Given the description of an element on the screen output the (x, y) to click on. 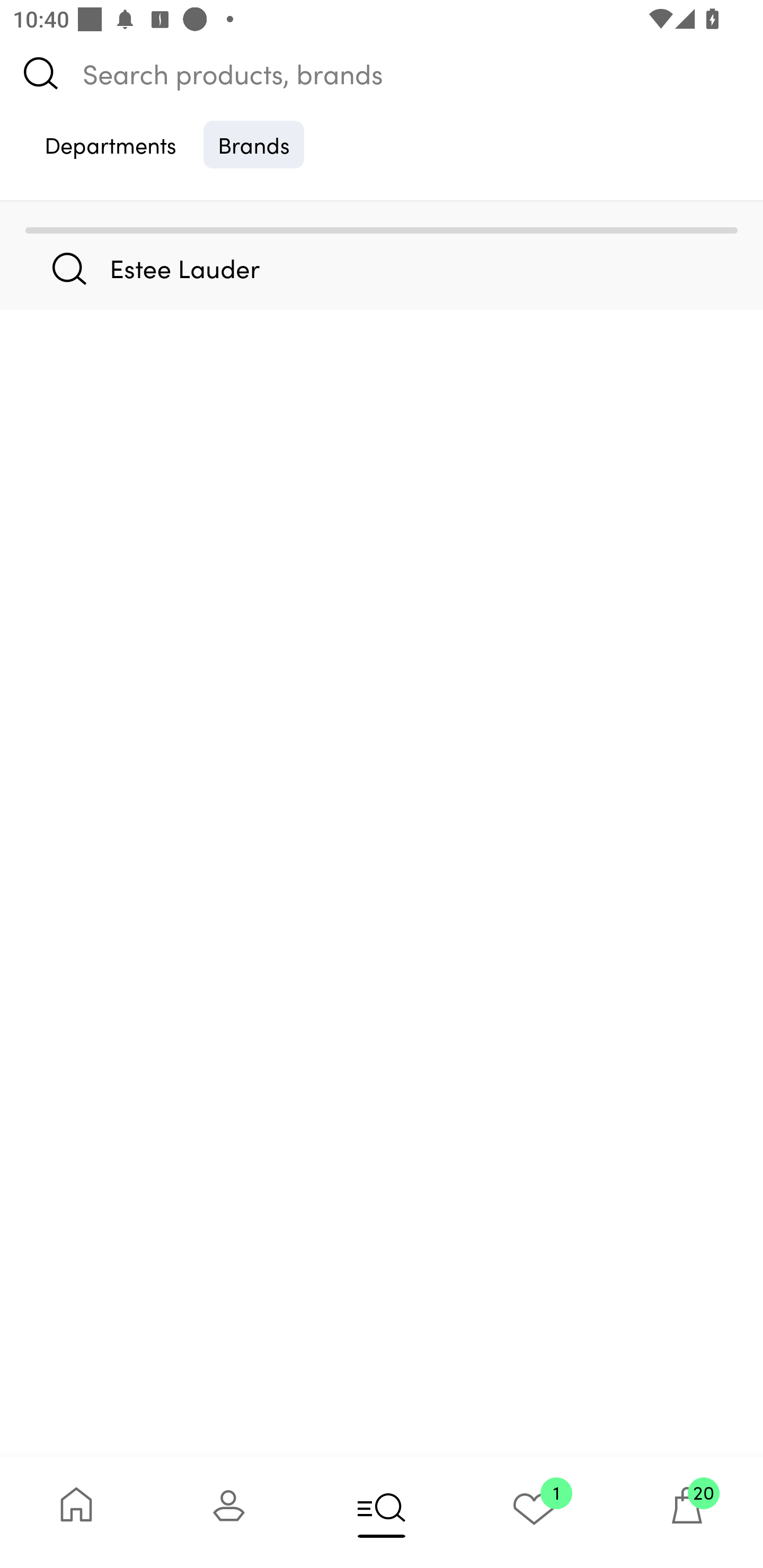
Search products, brands (381, 72)
Departments (110, 143)
Brands (253, 143)
1 (533, 1512)
20 (686, 1512)
